Given the description of an element on the screen output the (x, y) to click on. 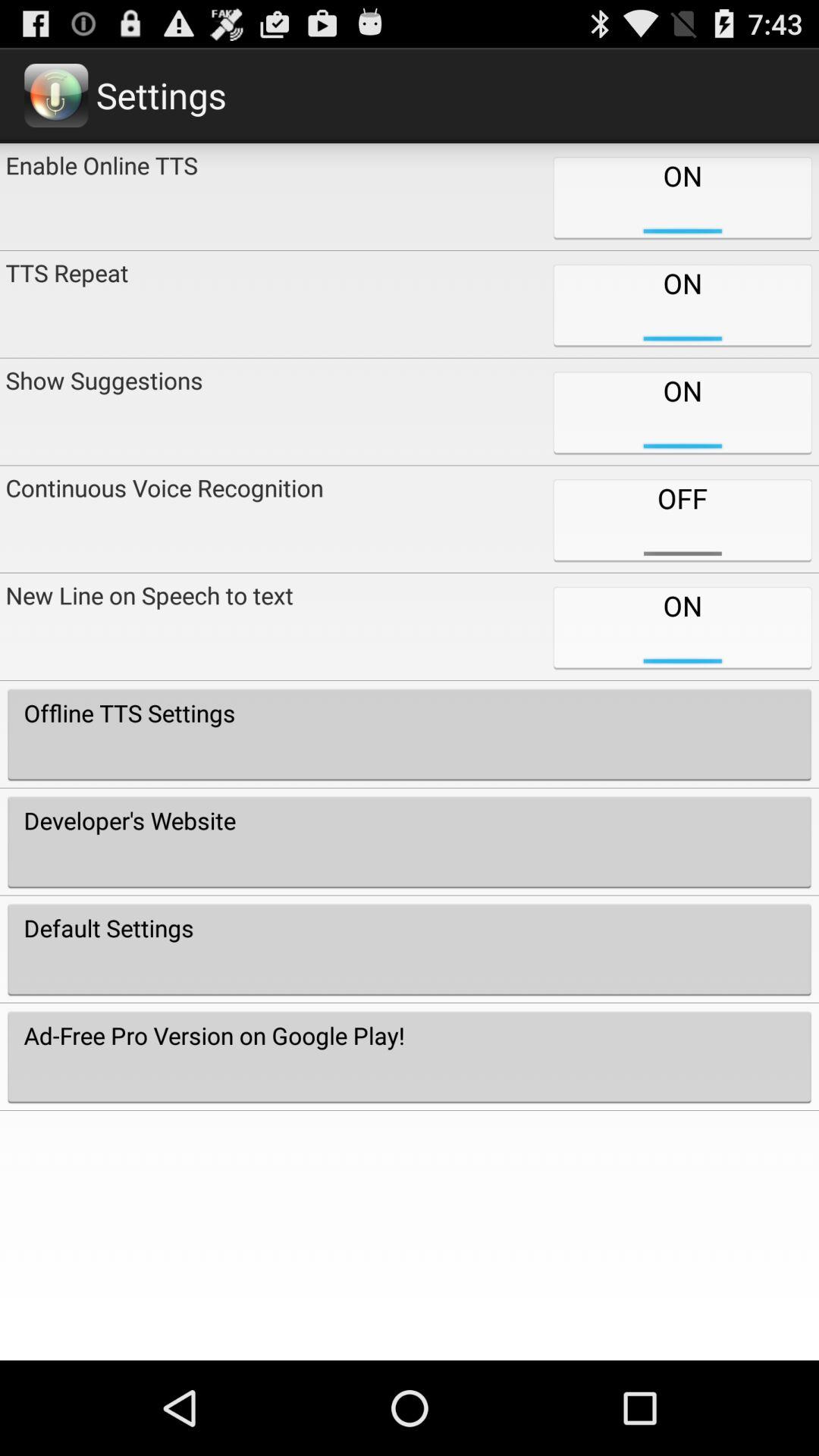
open app to the right of show suggestions (682, 519)
